Given the description of an element on the screen output the (x, y) to click on. 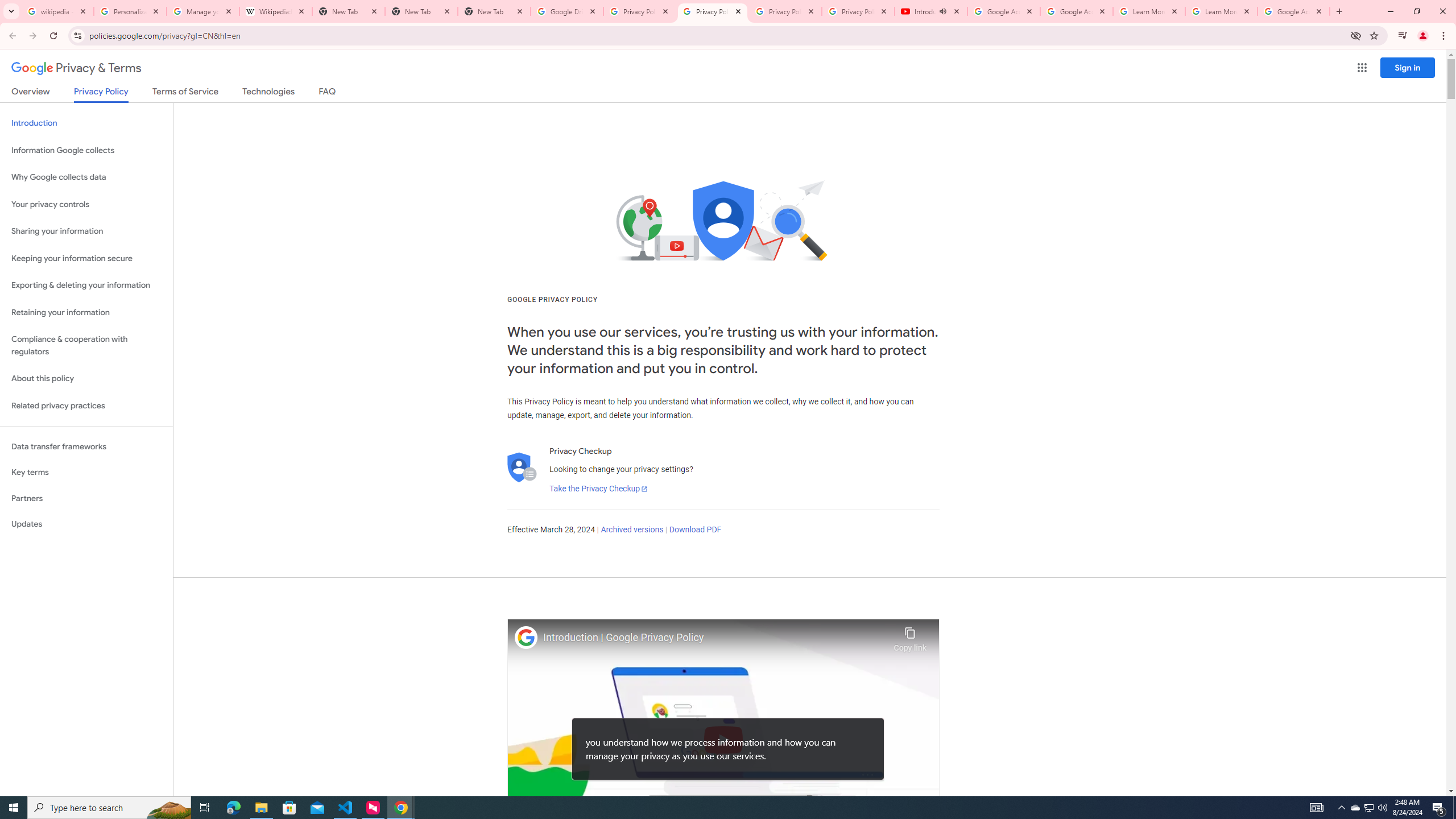
Manage your Location History - Google Search Help (202, 11)
Google Account Help (1076, 11)
Wikipedia:Edit requests - Wikipedia (275, 11)
New Tab (421, 11)
Introduction | Google Privacy Policy (715, 637)
